Given the description of an element on the screen output the (x, y) to click on. 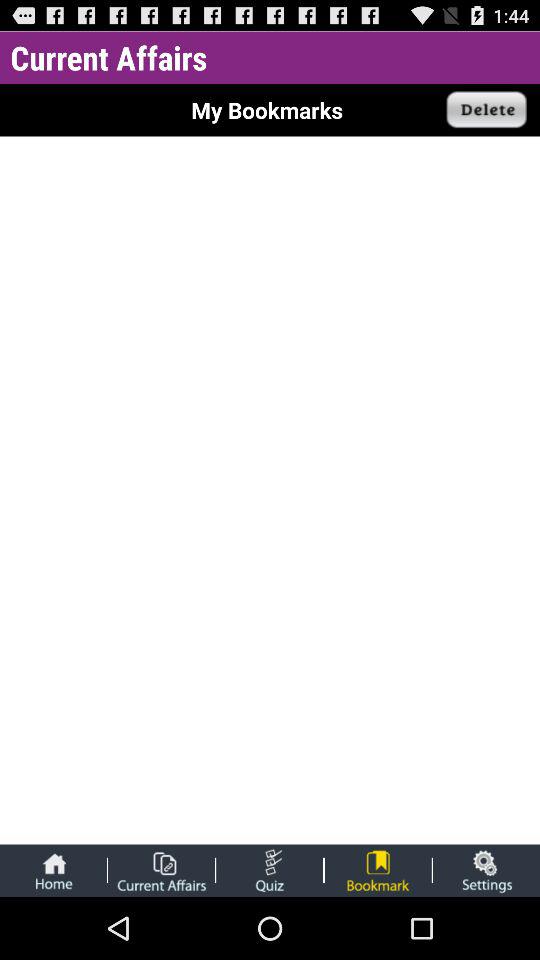
delete selection (487, 109)
